Given the description of an element on the screen output the (x, y) to click on. 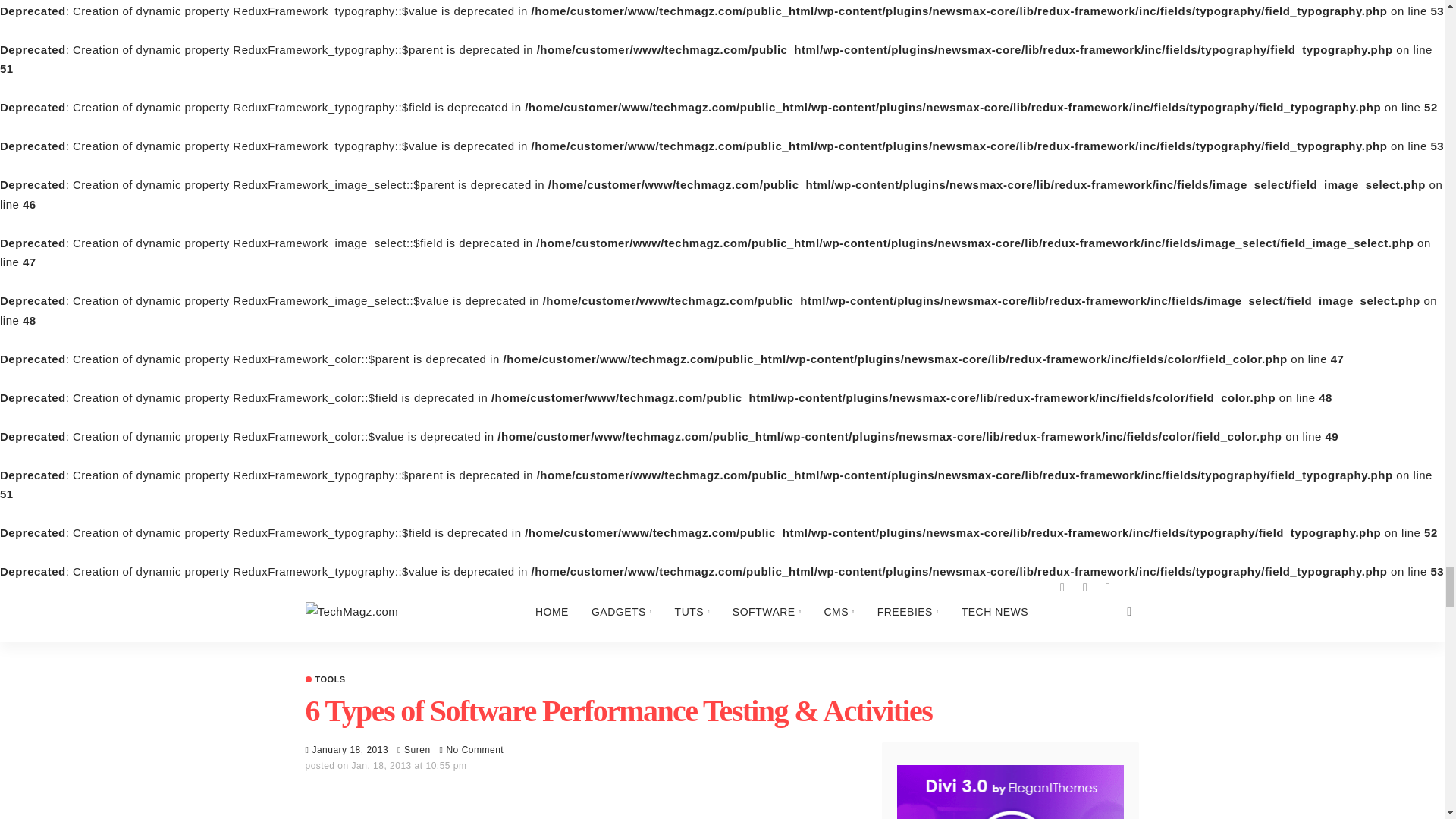
GADGETS (621, 610)
HOME (551, 610)
Tools (324, 678)
TechMagz (350, 611)
twitter (1085, 586)
TUTS (691, 610)
rss (1107, 586)
facebook (1062, 586)
